Given the description of an element on the screen output the (x, y) to click on. 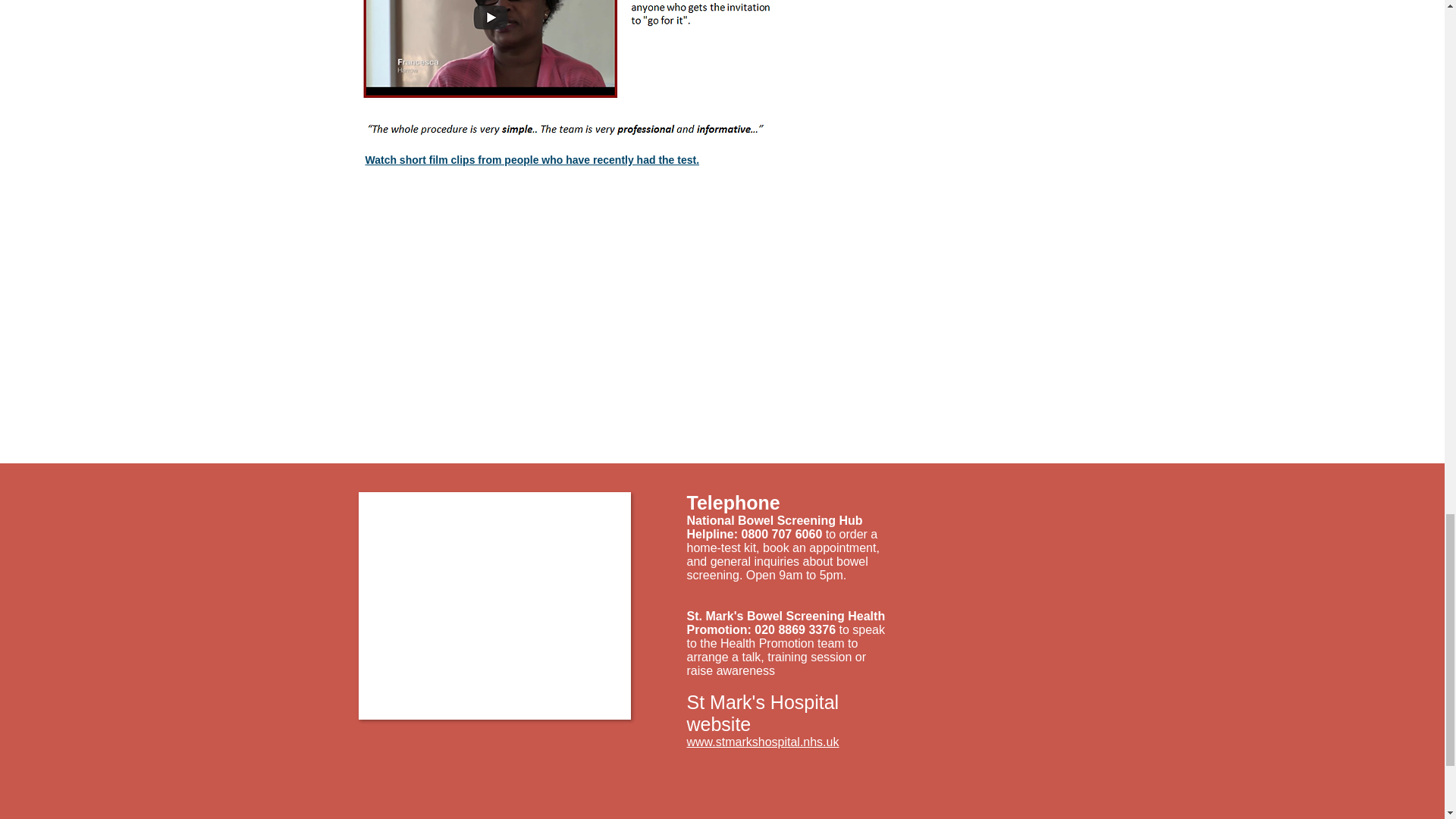
Google Maps (494, 605)
www.stmarkshospital.nhs.uk (763, 741)
